Given the description of an element on the screen output the (x, y) to click on. 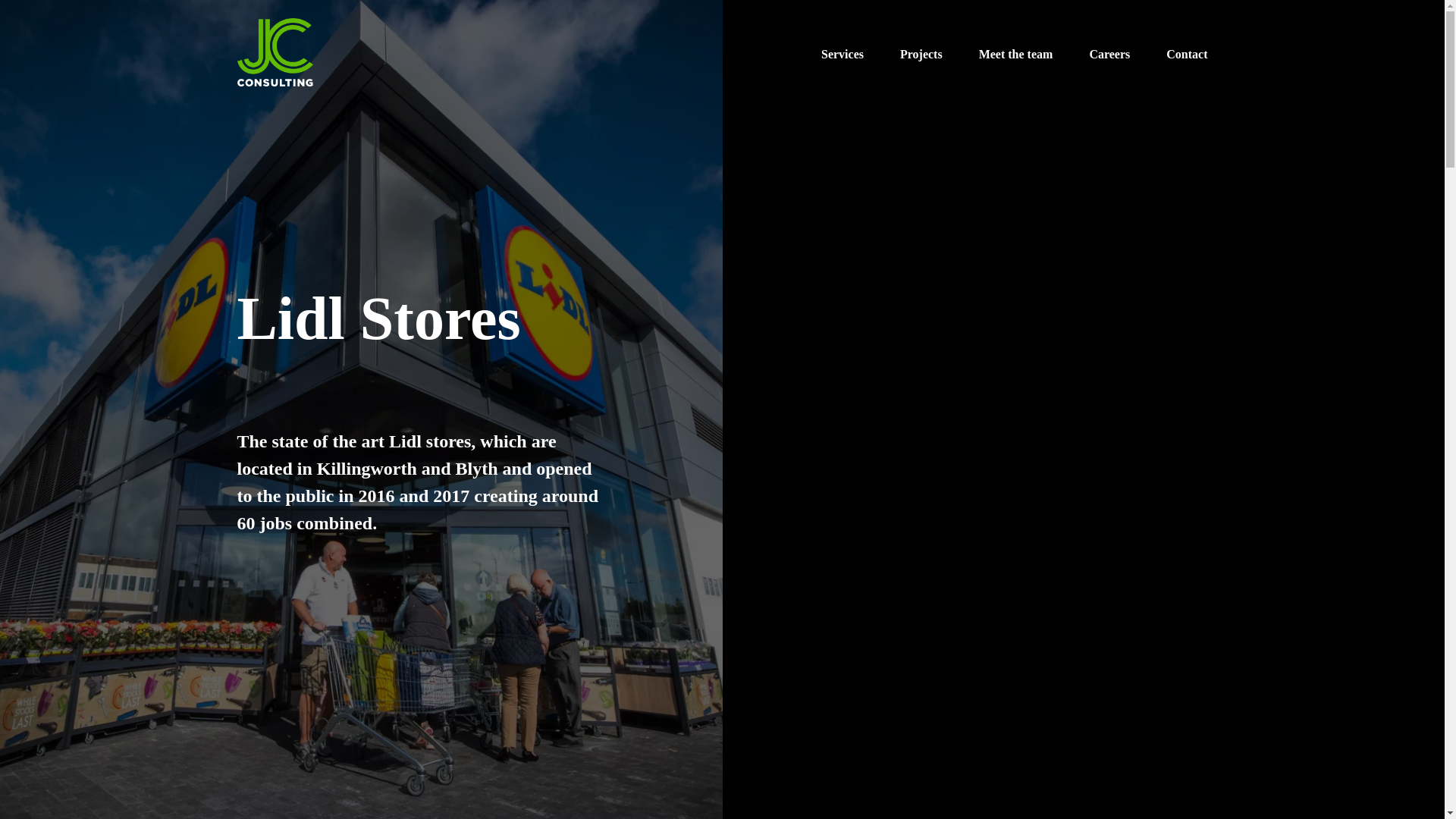
Careers (1109, 54)
Projects (920, 54)
Services (842, 54)
Meet the team (1015, 54)
Contact (1186, 54)
